Given the description of an element on the screen output the (x, y) to click on. 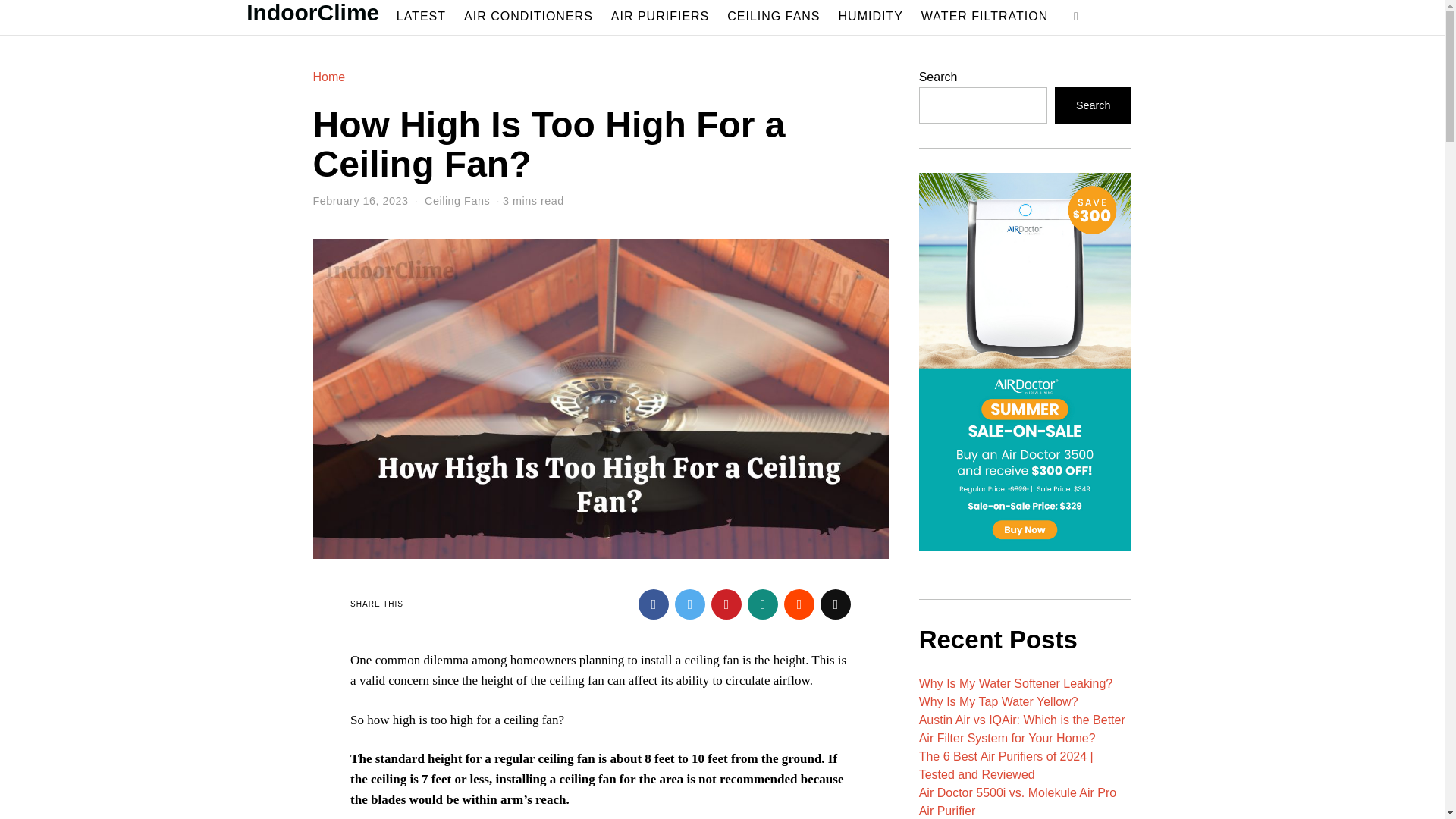
WATER FILTRATION (984, 15)
AIR PURIFIERS (659, 15)
Go (1076, 16)
CEILING FANS (772, 15)
Ceiling Fans (457, 200)
HUMIDITY (870, 15)
Home (329, 76)
IndoorClime (312, 14)
LATEST (420, 15)
AIR CONDITIONERS (528, 15)
